Given the description of an element on the screen output the (x, y) to click on. 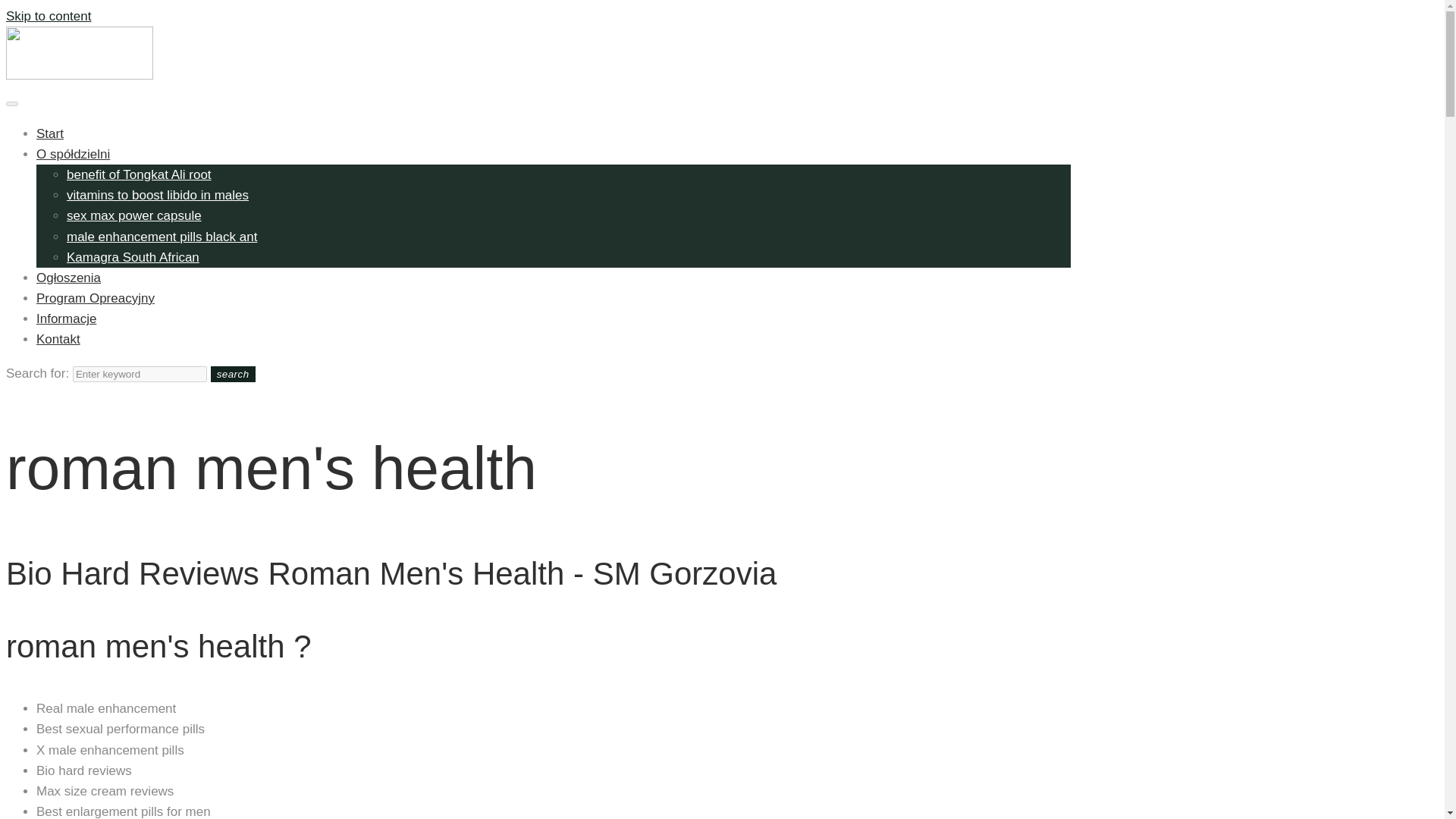
Program Opreacyjny (95, 298)
Informacje (66, 318)
Start (50, 133)
sex max power capsule (134, 215)
benefit of Tongkat Ali root (138, 174)
male enhancement pills black ant (161, 236)
search (233, 374)
Kamagra South African (132, 257)
Kontakt (58, 339)
vitamins to boost libido in males (157, 195)
